Given the description of an element on the screen output the (x, y) to click on. 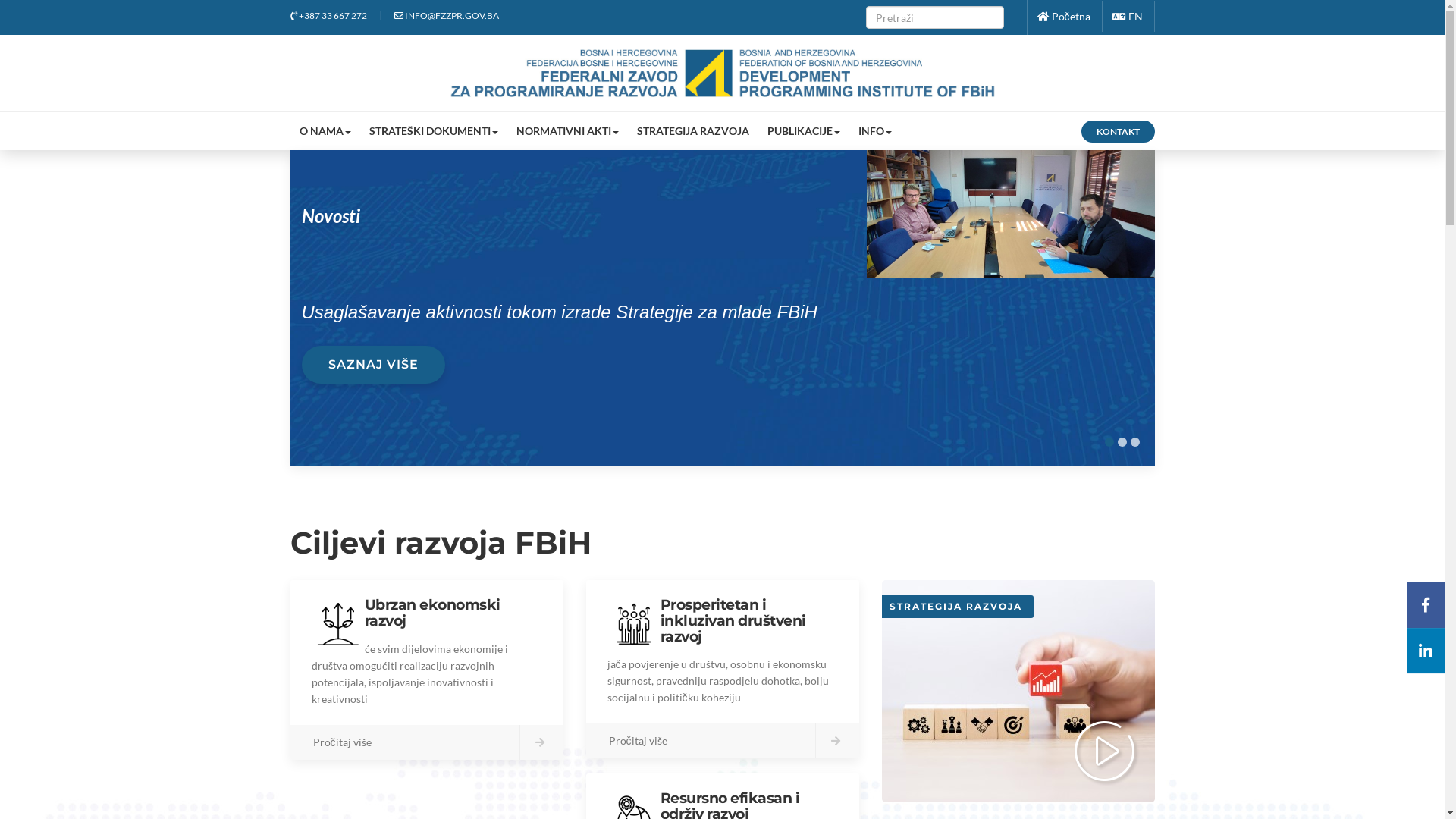
NORMATIVNI AKTI Element type: text (566, 131)
EN Element type: text (1126, 15)
Ubrzan ekonomski razvoj Element type: text (431, 612)
KONTAKT Element type: text (1117, 131)
O NAMA Element type: text (324, 131)
INFO@FZZPR.GOV.BA Element type: text (446, 15)
INFO Element type: text (874, 131)
+387 33 667 272 Element type: text (327, 15)
PUBLIKACIJE Element type: text (803, 131)
STRATEGIJA RAZVOJA Element type: text (692, 131)
